Given the description of an element on the screen output the (x, y) to click on. 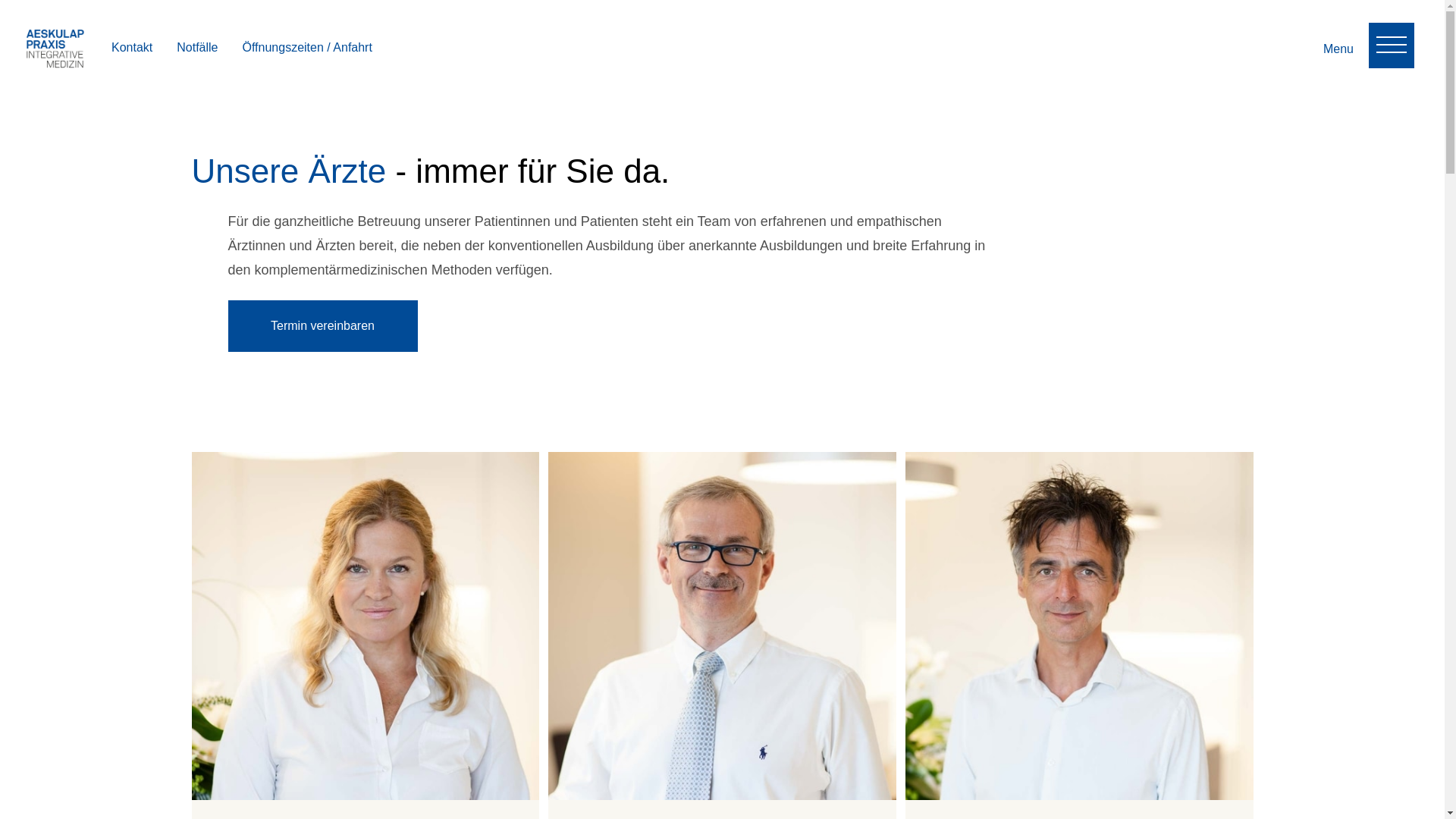
Termin vereinbaren Element type: text (322, 325)
Kontakt Element type: text (131, 46)
